Given the description of an element on the screen output the (x, y) to click on. 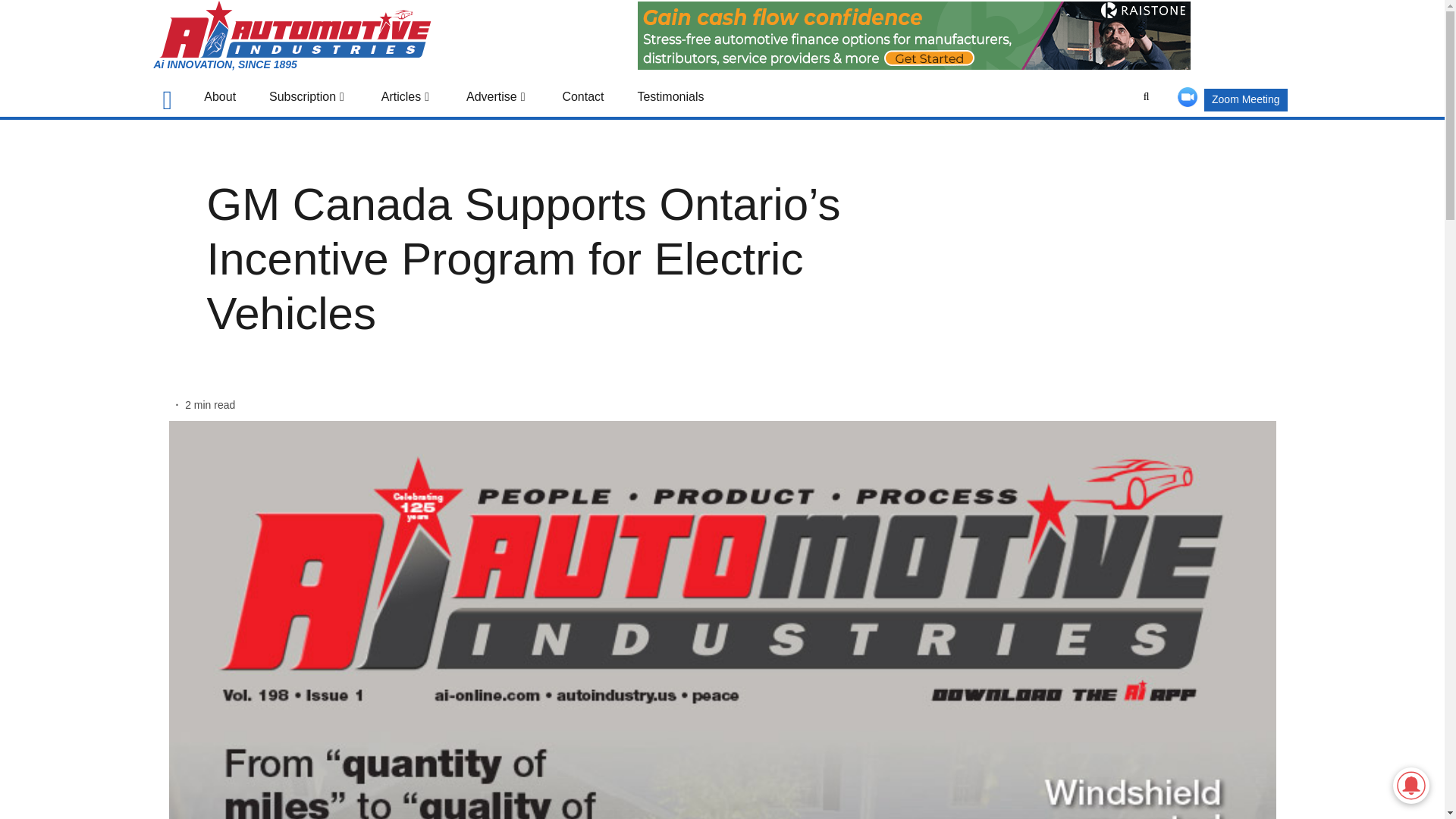
About (219, 96)
Subscription (308, 96)
Articles (406, 96)
